Given the description of an element on the screen output the (x, y) to click on. 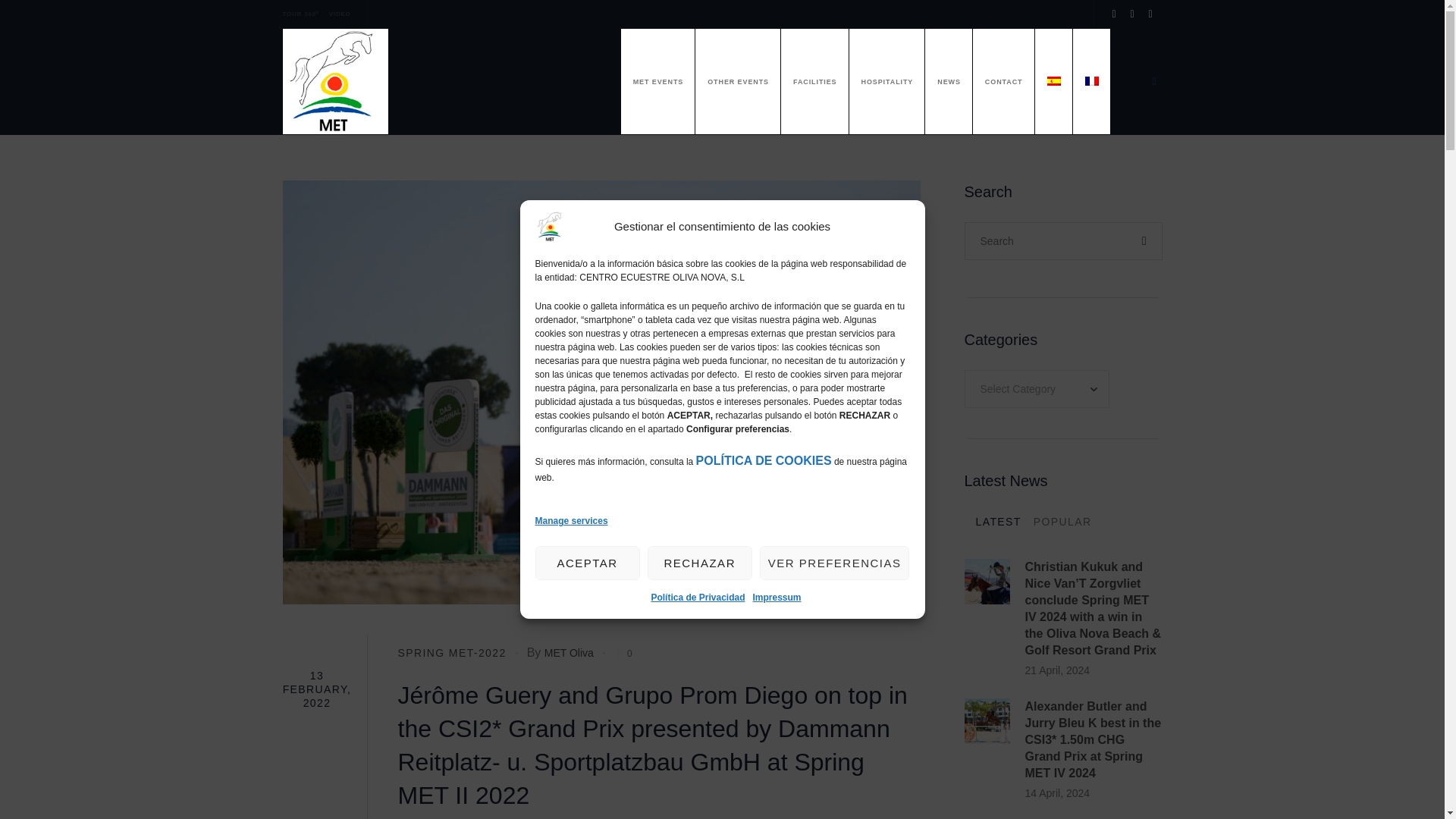
RECHAZAR (699, 562)
ACEPTAR (587, 562)
Manage services (571, 520)
VIDEO (339, 14)
21 April, 2024 (1093, 669)
VER PREFERENCIAS (835, 562)
Impressum (777, 597)
Posts by MET Oliva (569, 653)
13 February, 2022 (316, 689)
